Given the description of an element on the screen output the (x, y) to click on. 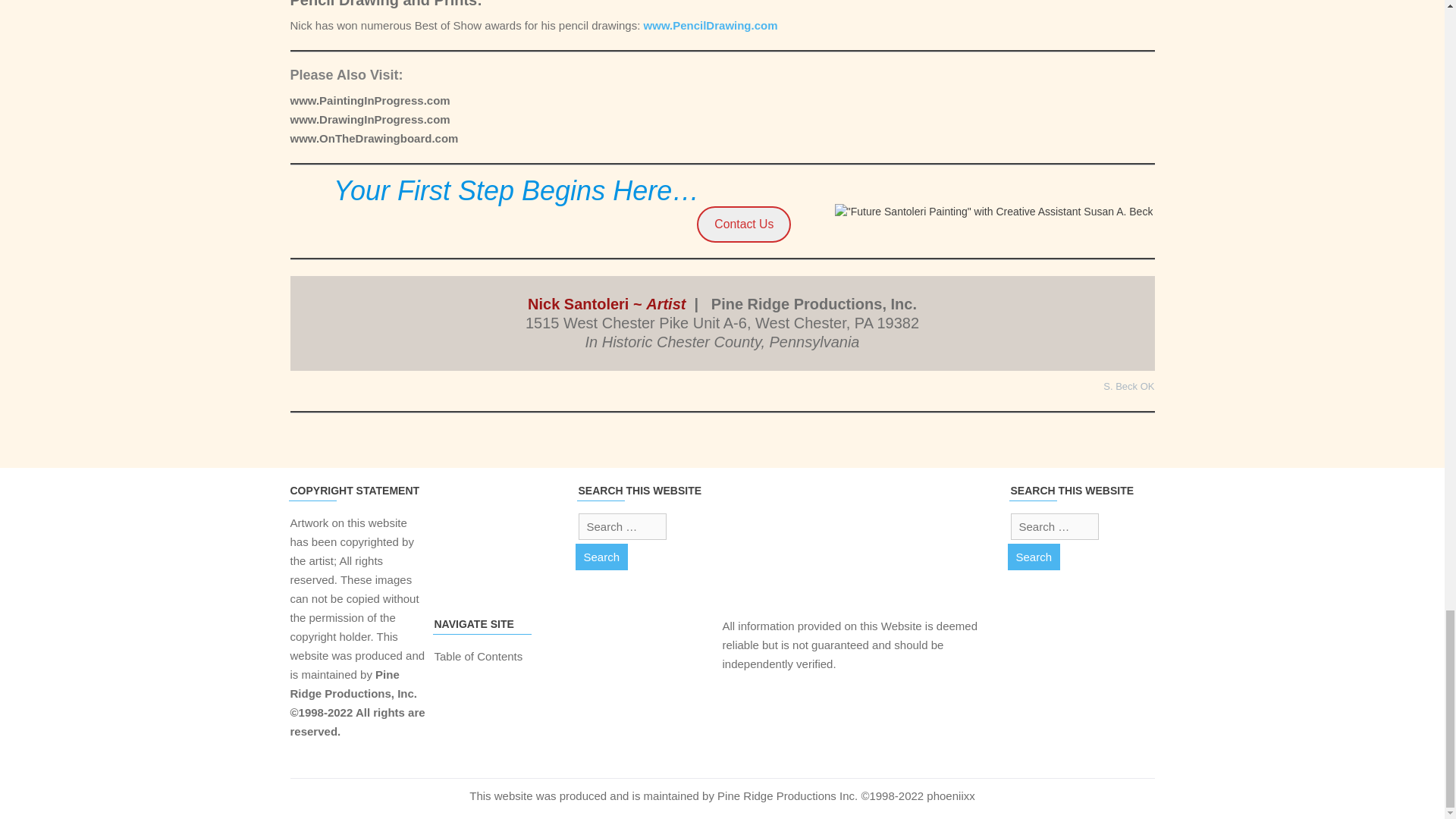
Search (601, 556)
Painting in Progress (370, 100)
Search (1033, 556)
Drawing in Progress (369, 119)
Search (601, 556)
Search (1033, 556)
